Given the description of an element on the screen output the (x, y) to click on. 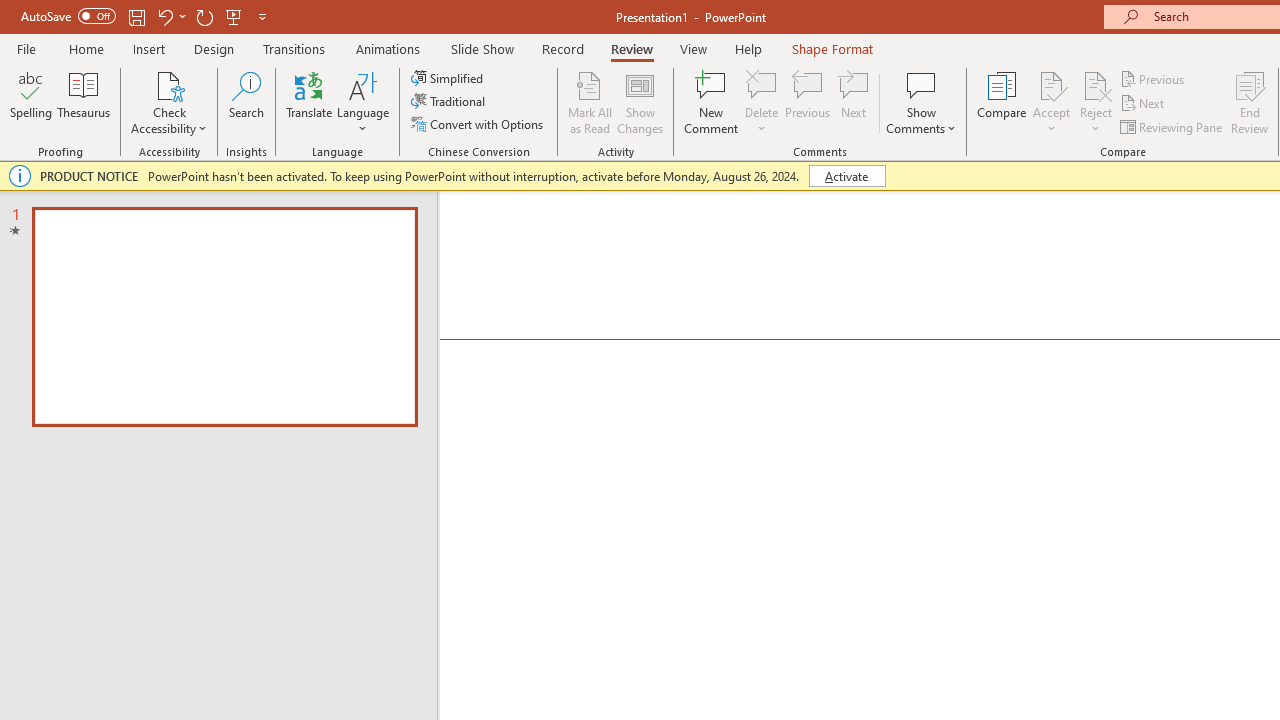
Thesaurus... (83, 102)
Mark All as Read (589, 102)
Accept (1051, 102)
